Given the description of an element on the screen output the (x, y) to click on. 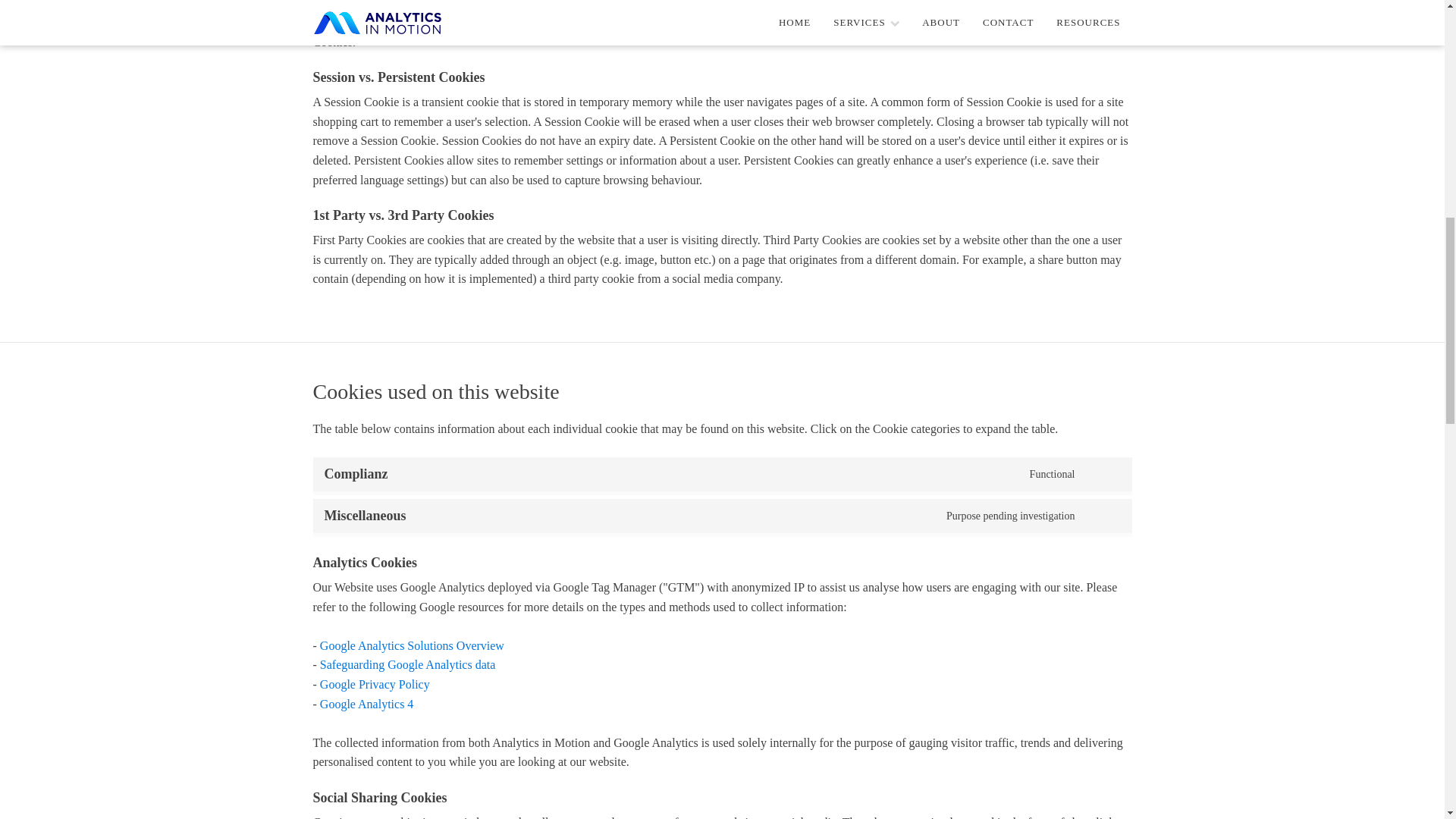
Google Analytics 4 (366, 704)
Safeguarding Google Analytics data (408, 664)
Google Privacy Policy (374, 684)
Google Analytics Solutions Overview (411, 646)
